Given the description of an element on the screen output the (x, y) to click on. 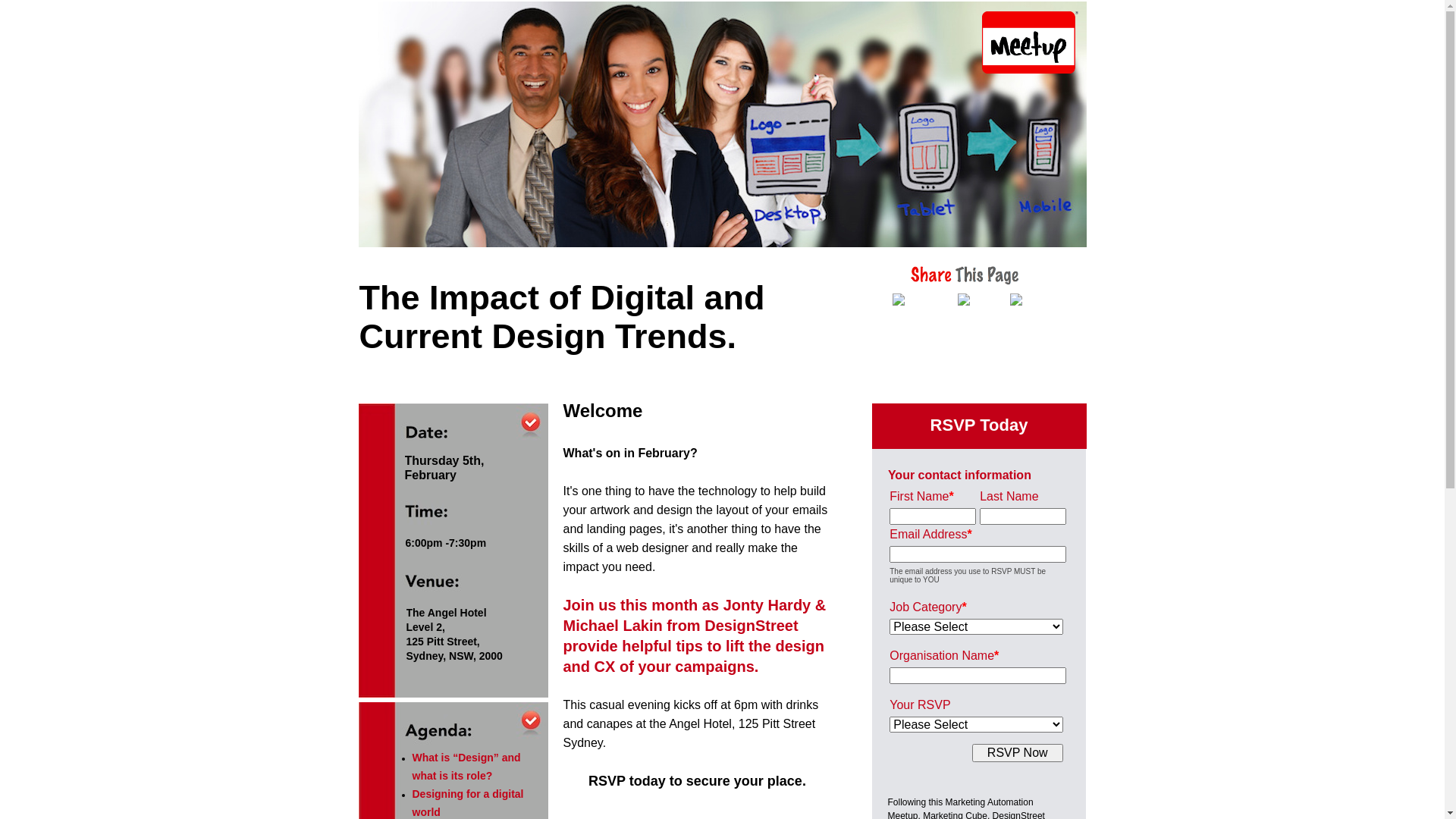
RSVP Now Element type: text (1017, 752)
